Given the description of an element on the screen output the (x, y) to click on. 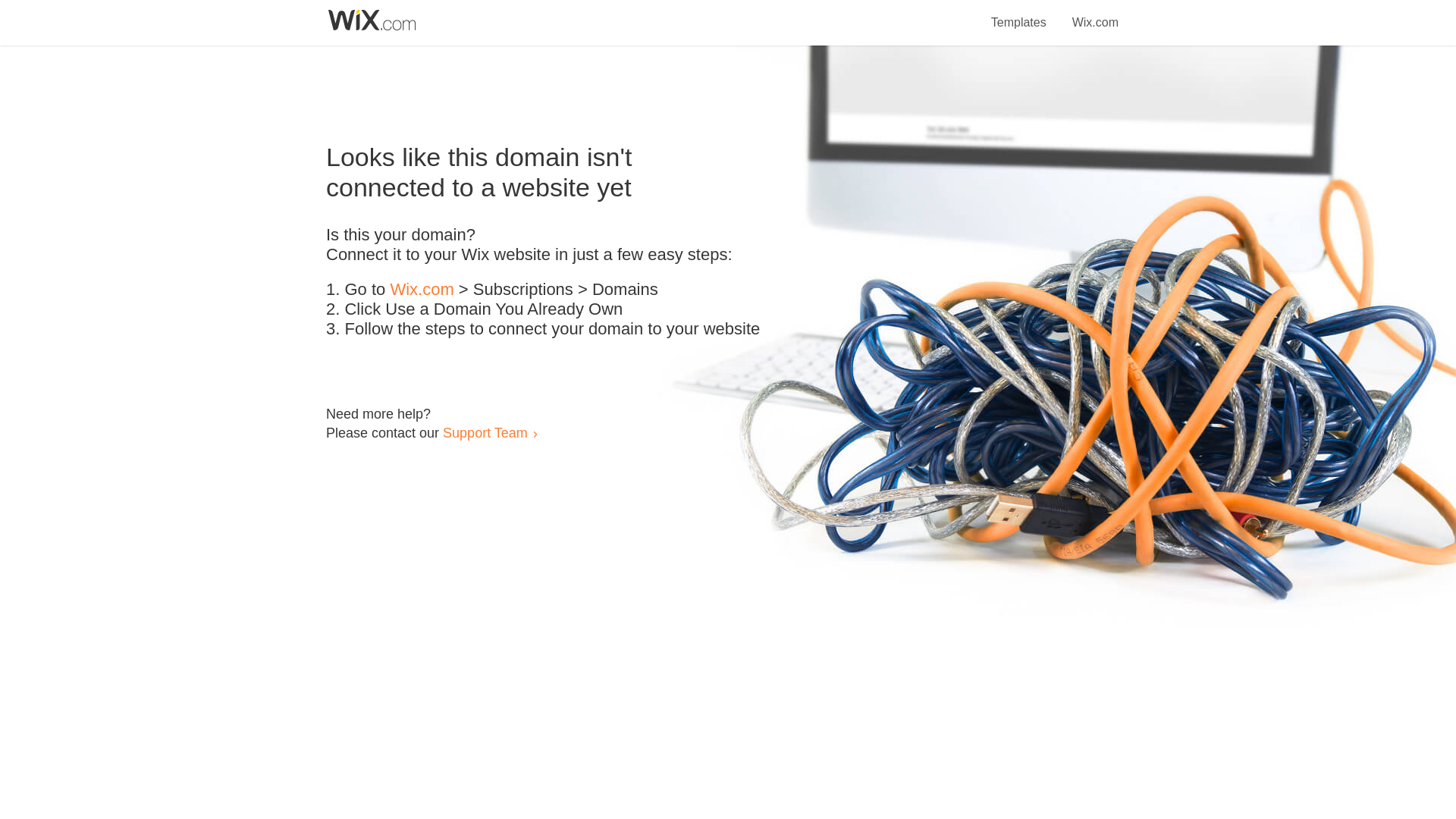
Support Team (484, 432)
Wix.com (1095, 14)
Templates (1018, 14)
Wix.com (421, 289)
